Given the description of an element on the screen output the (x, y) to click on. 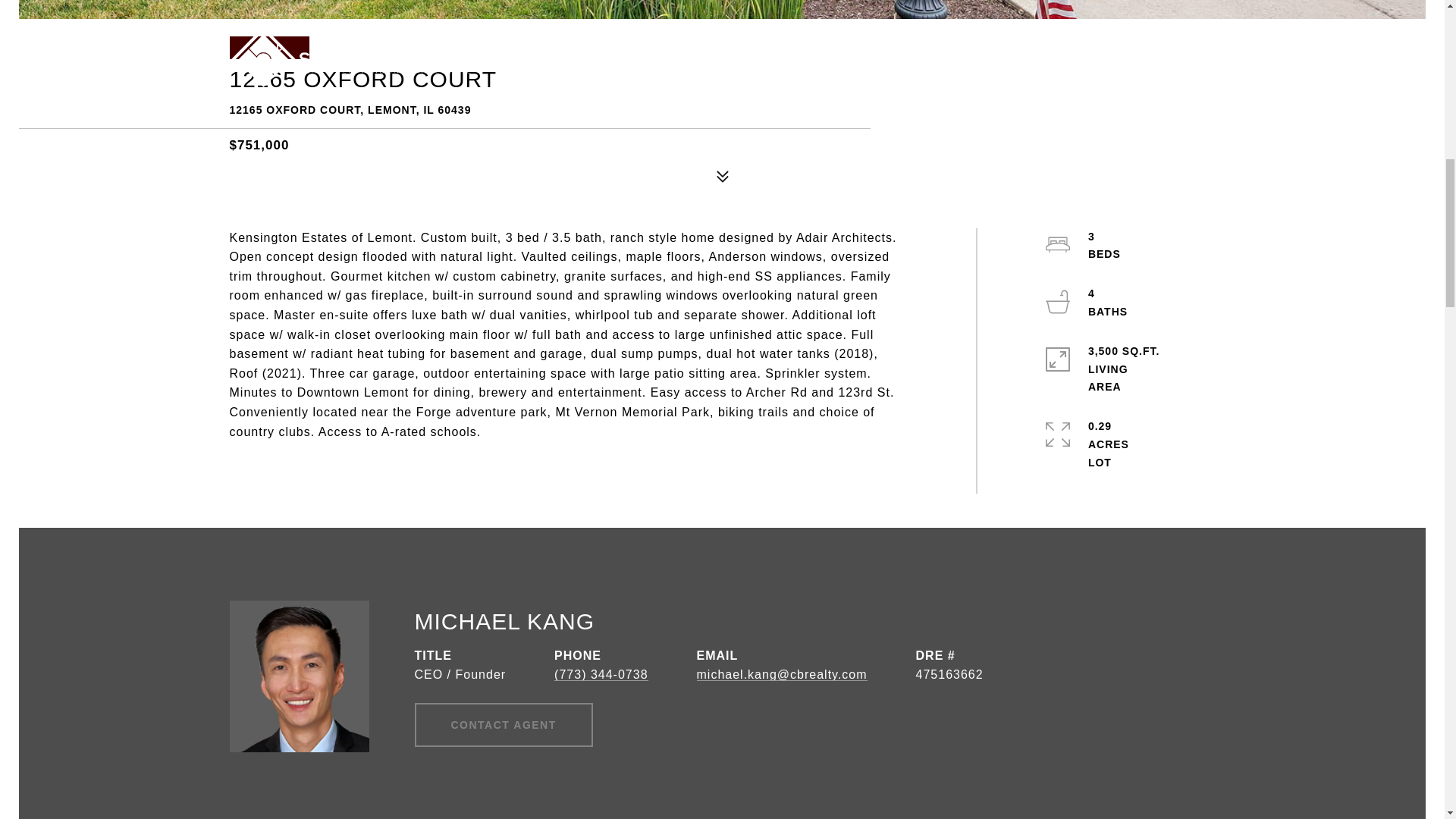
CONTACT AGENT (502, 724)
